Given the description of an element on the screen output the (x, y) to click on. 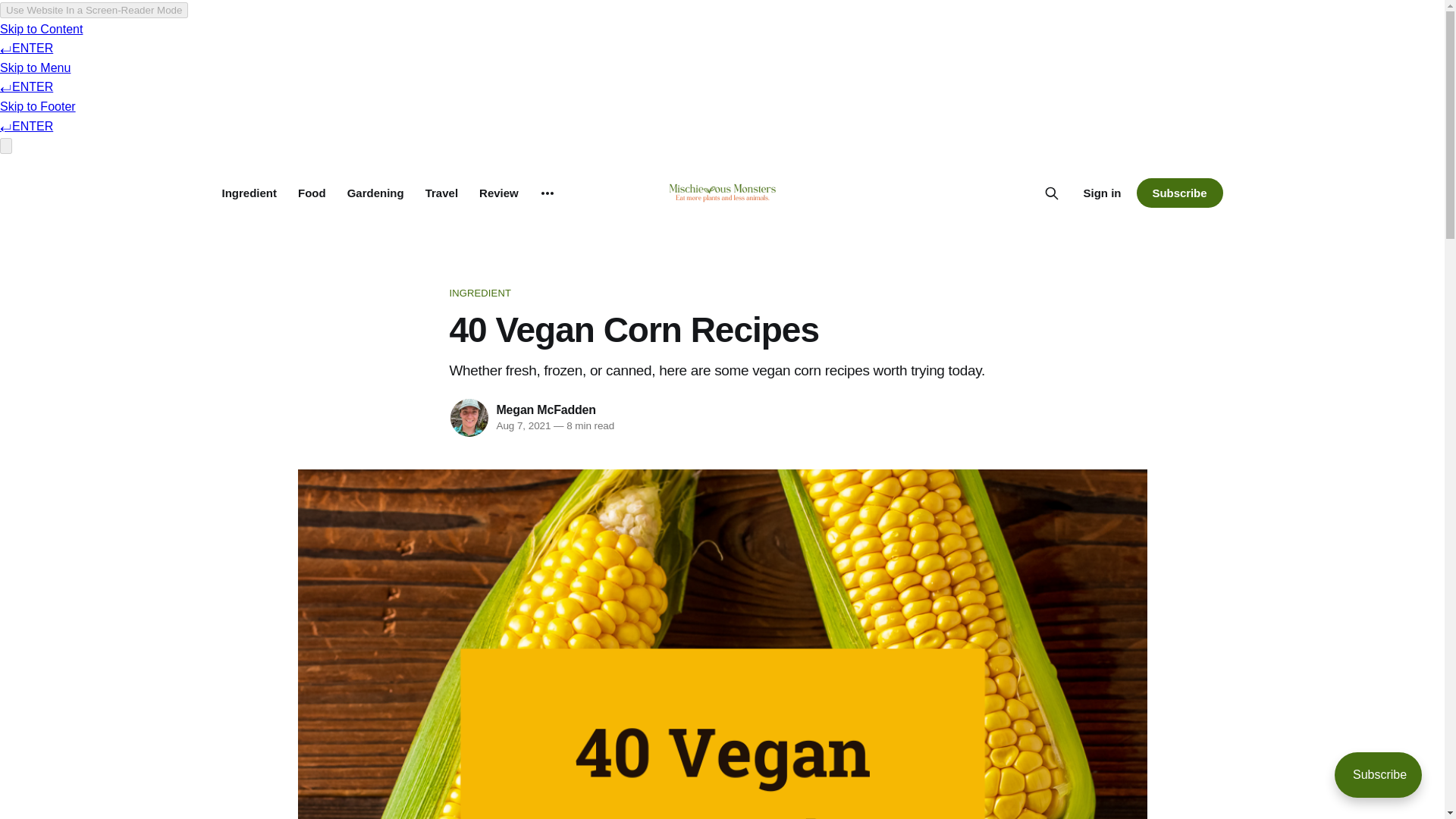
INGREDIENT (721, 293)
Food (312, 192)
Travel (441, 192)
Review (498, 192)
Megan McFadden (545, 409)
Ingredient (248, 192)
Gardening (375, 192)
Subscribe (1179, 193)
Sign in (1102, 193)
